Given the description of an element on the screen output the (x, y) to click on. 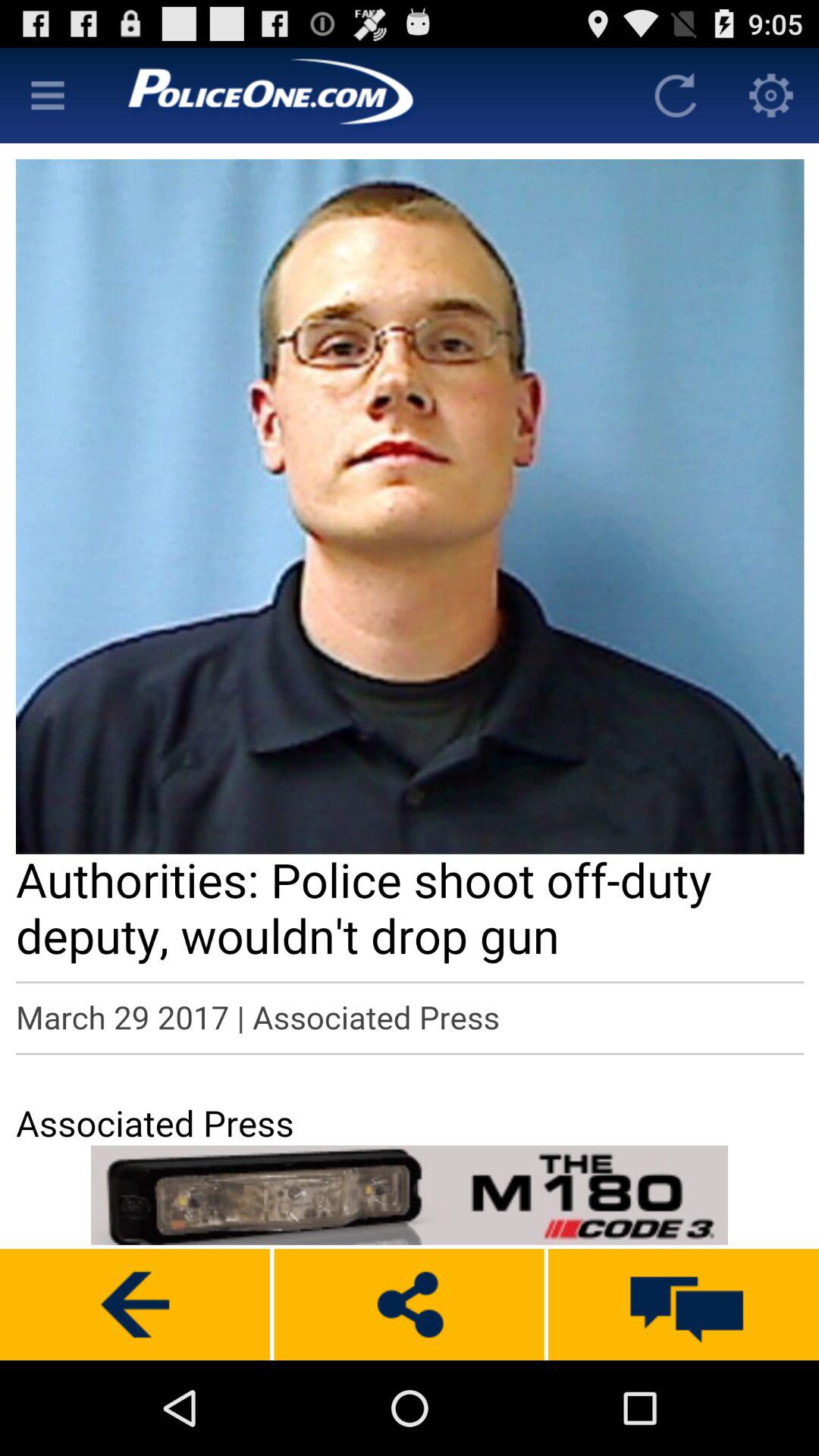
to go to the home page of the company (361, 95)
